Given the description of an element on the screen output the (x, y) to click on. 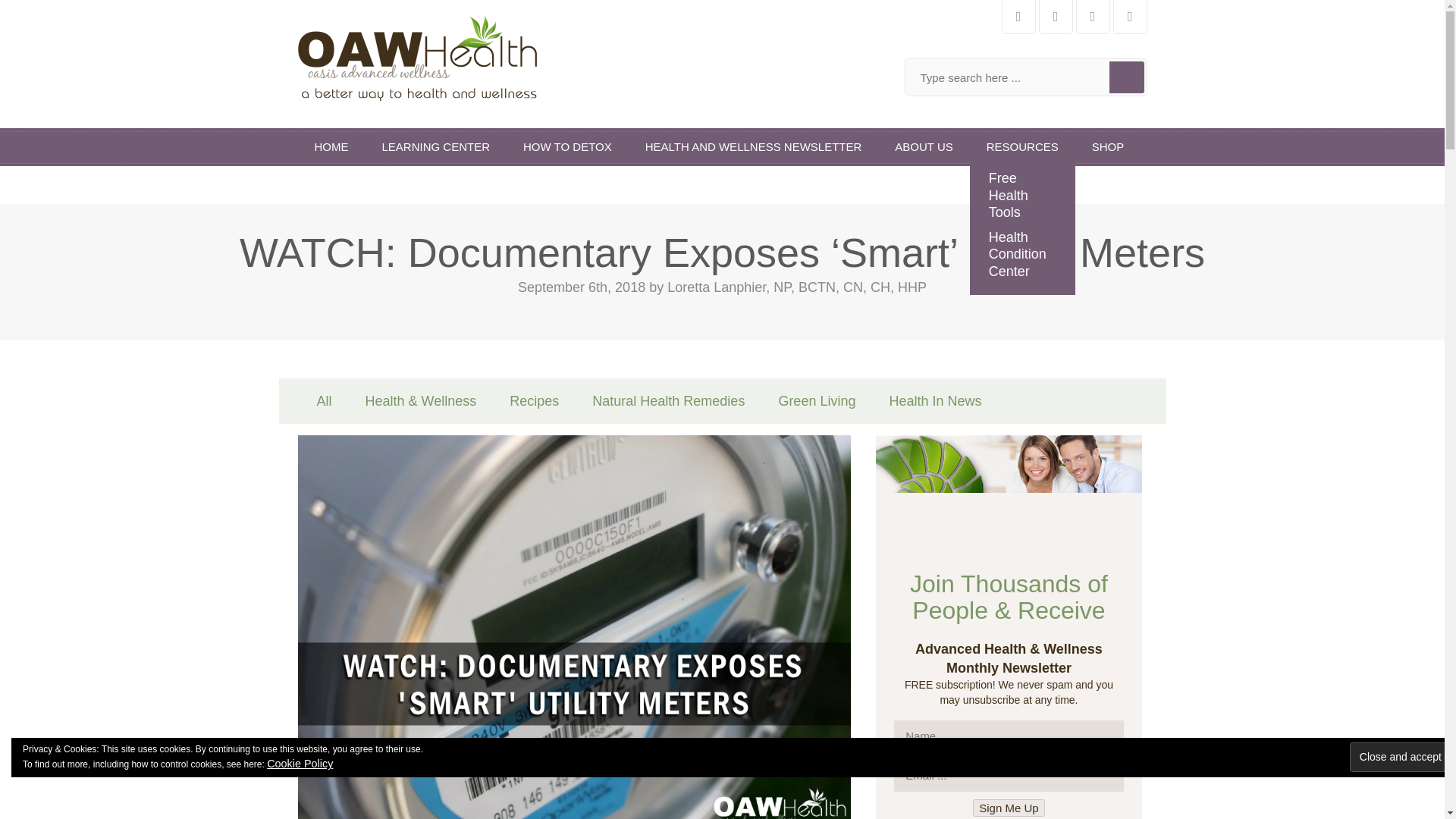
Free Health Tools (1022, 195)
Health Condition Center (1022, 253)
LEARNING CENTER (435, 146)
Natural Health Remedies (668, 400)
RESOURCES (1022, 146)
Health In News (934, 400)
SHOP (1108, 146)
HOME (331, 146)
Recipes (534, 400)
ABOUT US (923, 146)
